Given the description of an element on the screen output the (x, y) to click on. 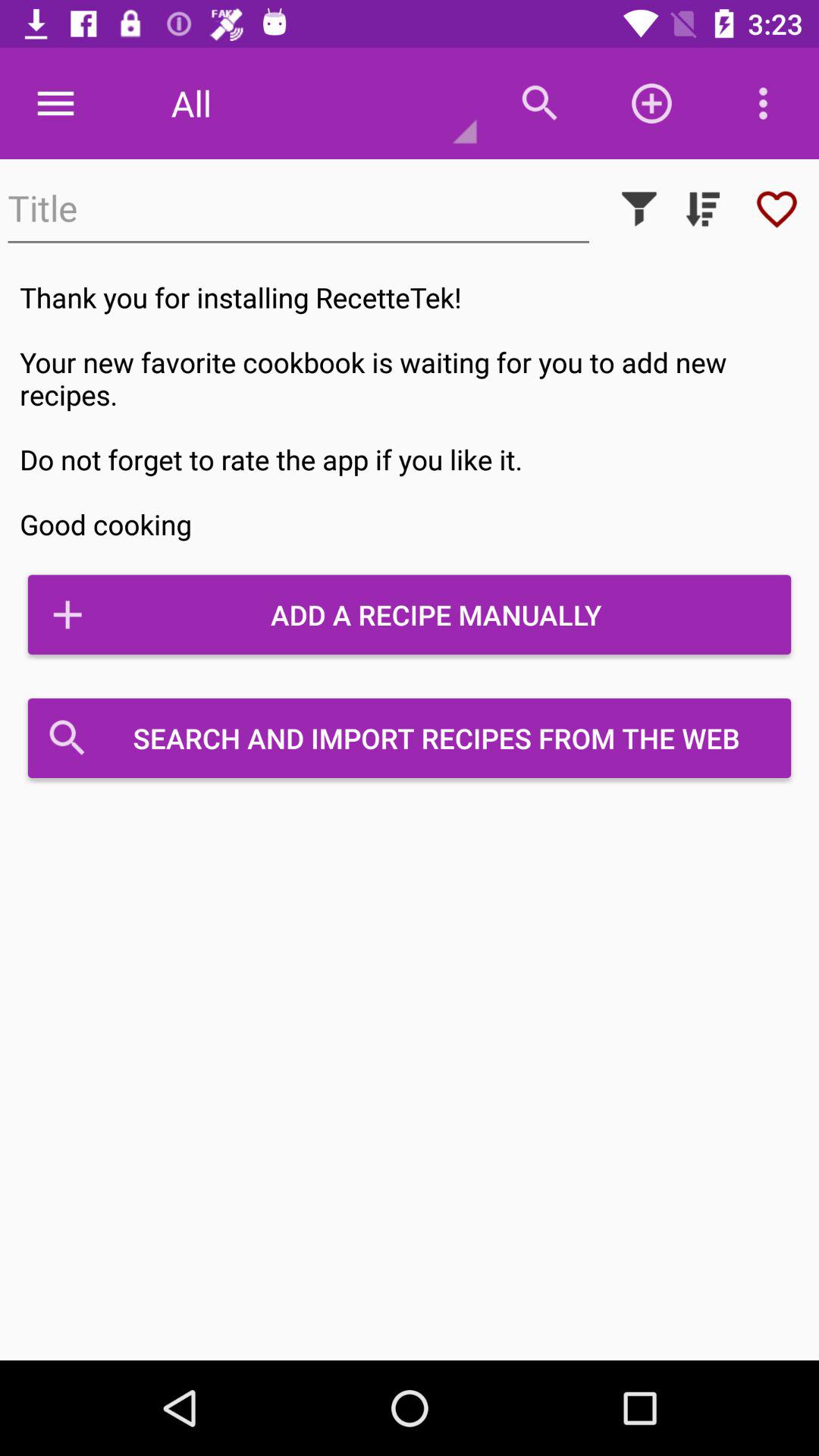
add page to favorites (776, 208)
